Given the description of an element on the screen output the (x, y) to click on. 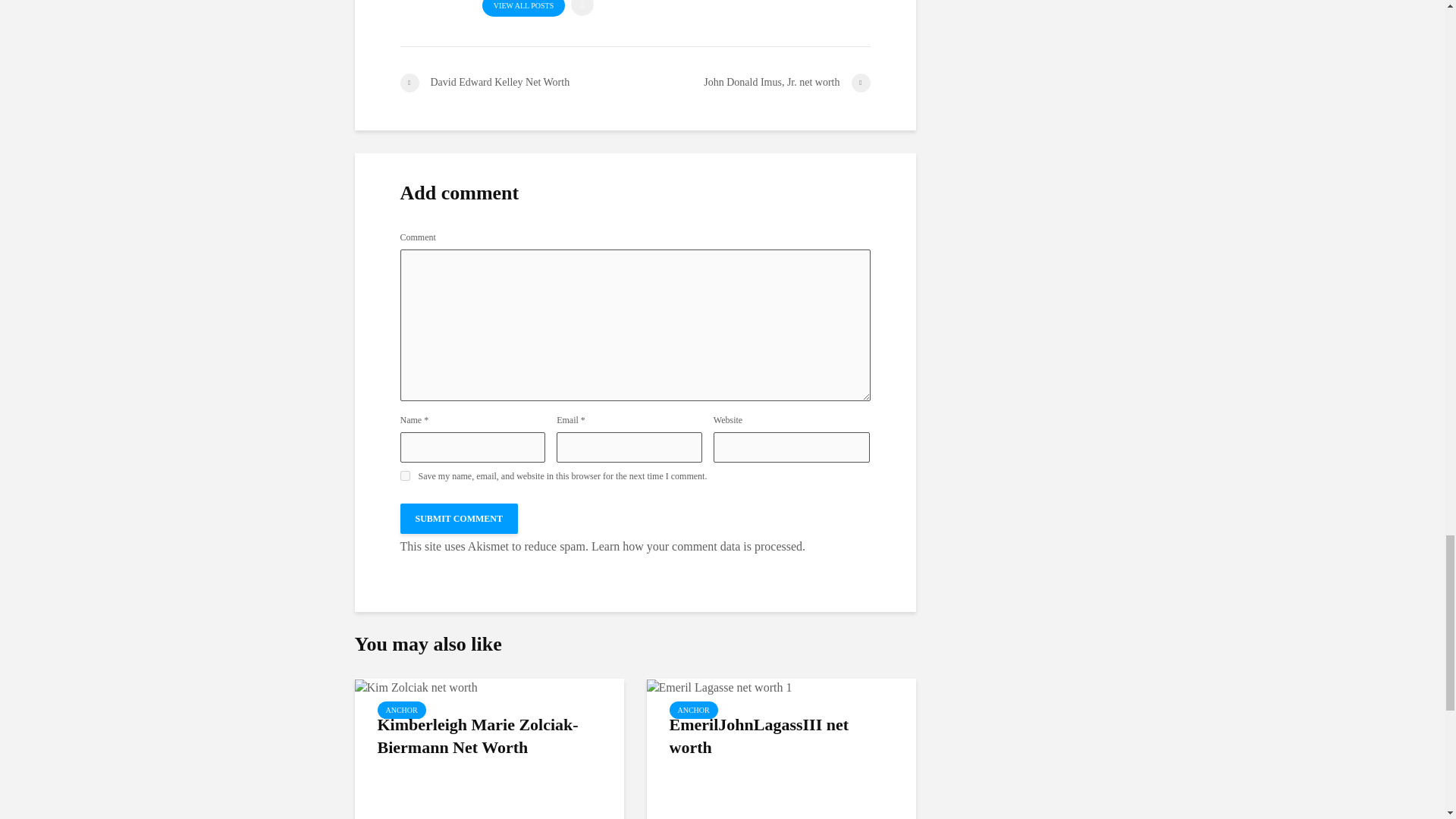
David Edward Kelley Net Worth (517, 82)
EmerilJohnLagassIII net worth (719, 686)
yes (405, 475)
VIEW ALL POSTS (522, 8)
Kimberleigh Marie Zolciak-Biermann Net Worth (416, 686)
Submit Comment (459, 518)
